Given the description of an element on the screen output the (x, y) to click on. 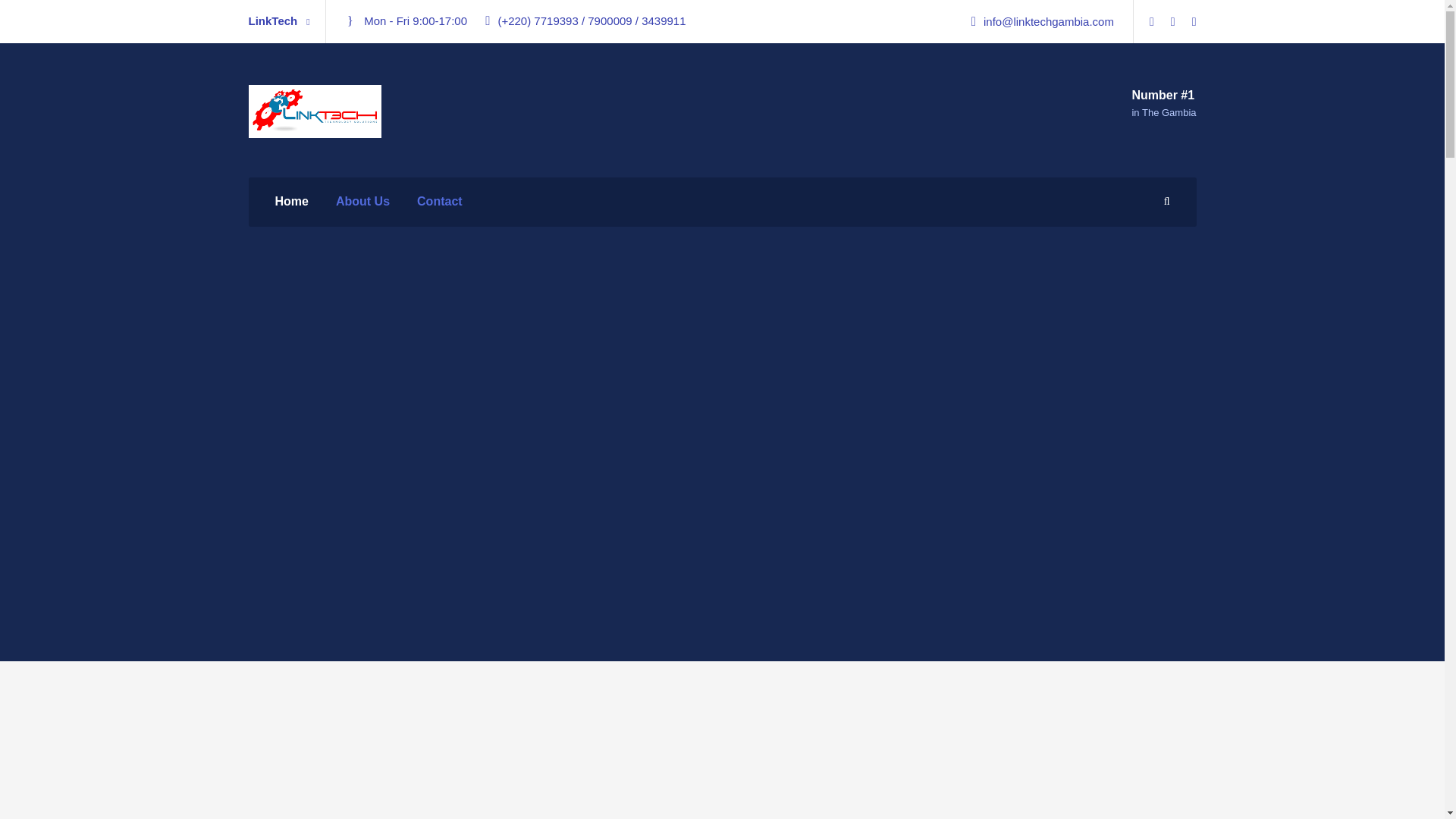
Home (291, 208)
About Us (363, 208)
Contact (439, 208)
